Given the description of an element on the screen output the (x, y) to click on. 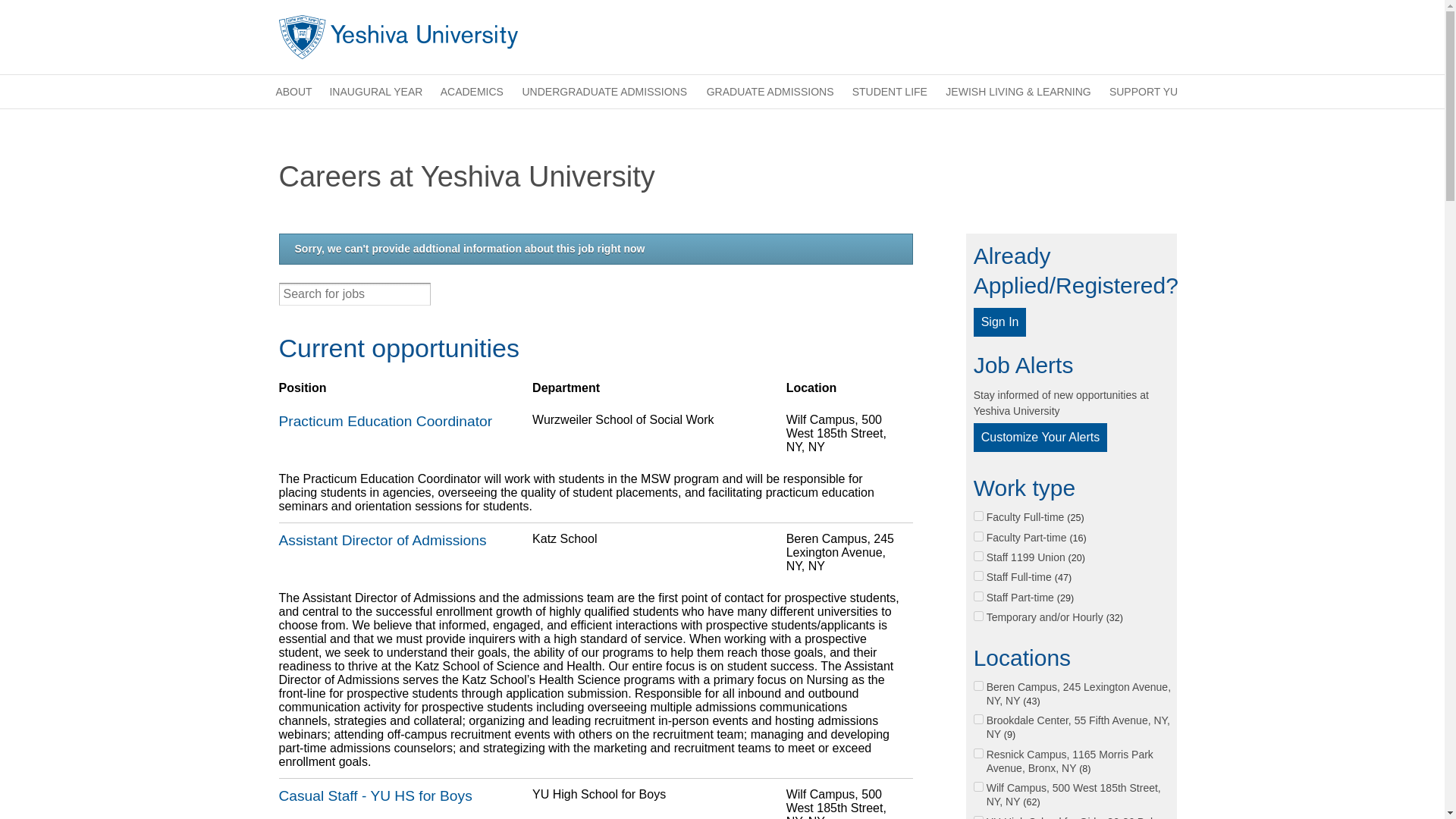
Resnick Campus 1165 Morris Park Avenue Bronx NY (979, 753)
Home (398, 36)
Yeshiva University (398, 36)
INAUGURAL YEAR (376, 91)
Staff Part-time (979, 596)
Faculty Full-time (979, 515)
GRADUATE ADMISSIONS (770, 91)
SUPPORT YU (1143, 91)
UNDERGRADUATE ADMISSIONS (604, 91)
ABOUT (293, 91)
Assistant Director of Admissions (400, 540)
Brookdale Center 55 Fifth Avenue NY NY (979, 718)
Staff Full-time (979, 575)
Beren Campus 245 Lexington Avenue NY NY (979, 685)
